Given the description of an element on the screen output the (x, y) to click on. 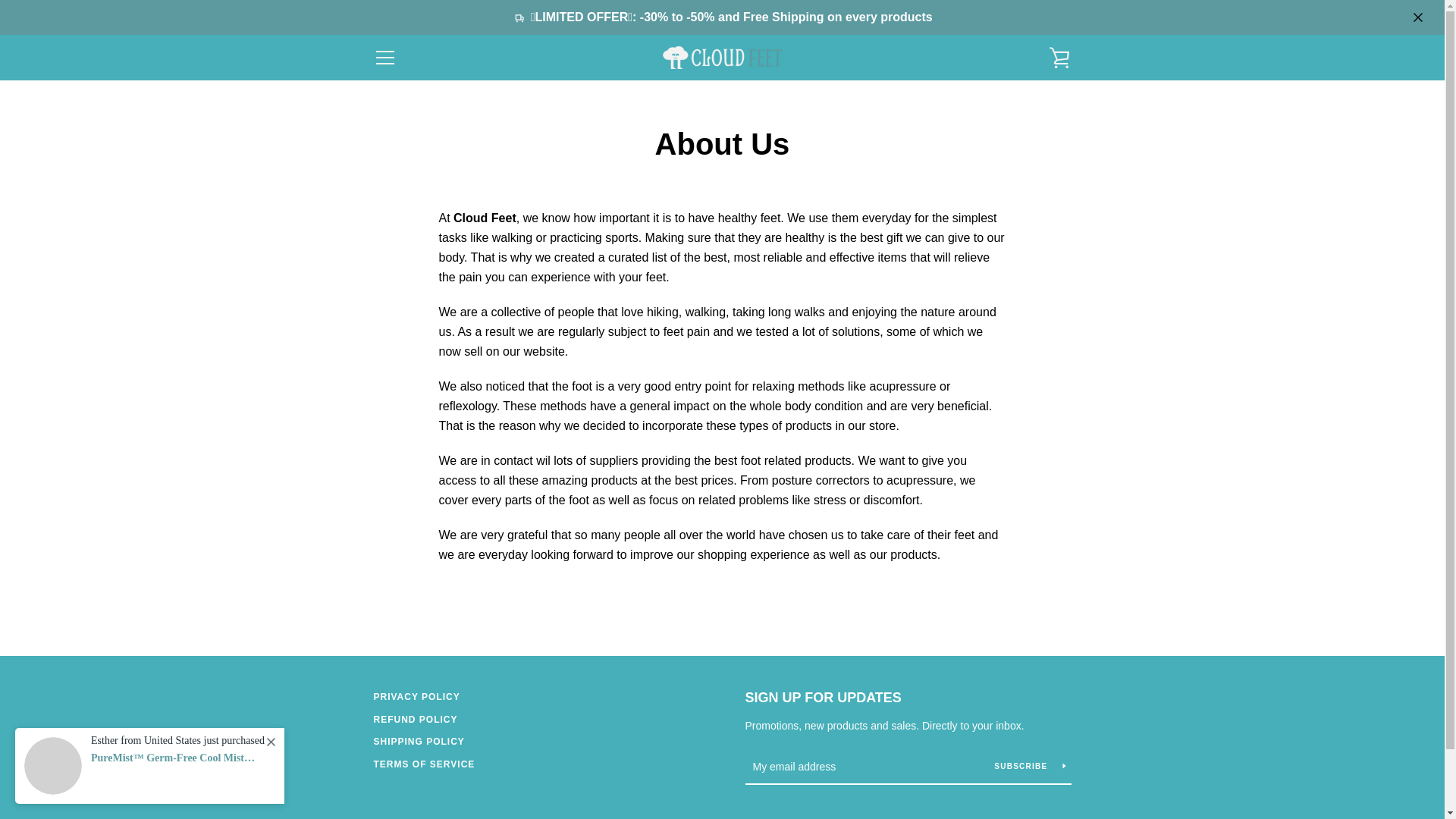
SHIPPING POLICY (418, 741)
PRIVACY POLICY (416, 696)
REFUND POLICY (414, 719)
MENU (384, 57)
TERMS OF SERVICE (423, 763)
SUBSCRIBE (1029, 766)
VIEW CART (1059, 57)
